Given the description of an element on the screen output the (x, y) to click on. 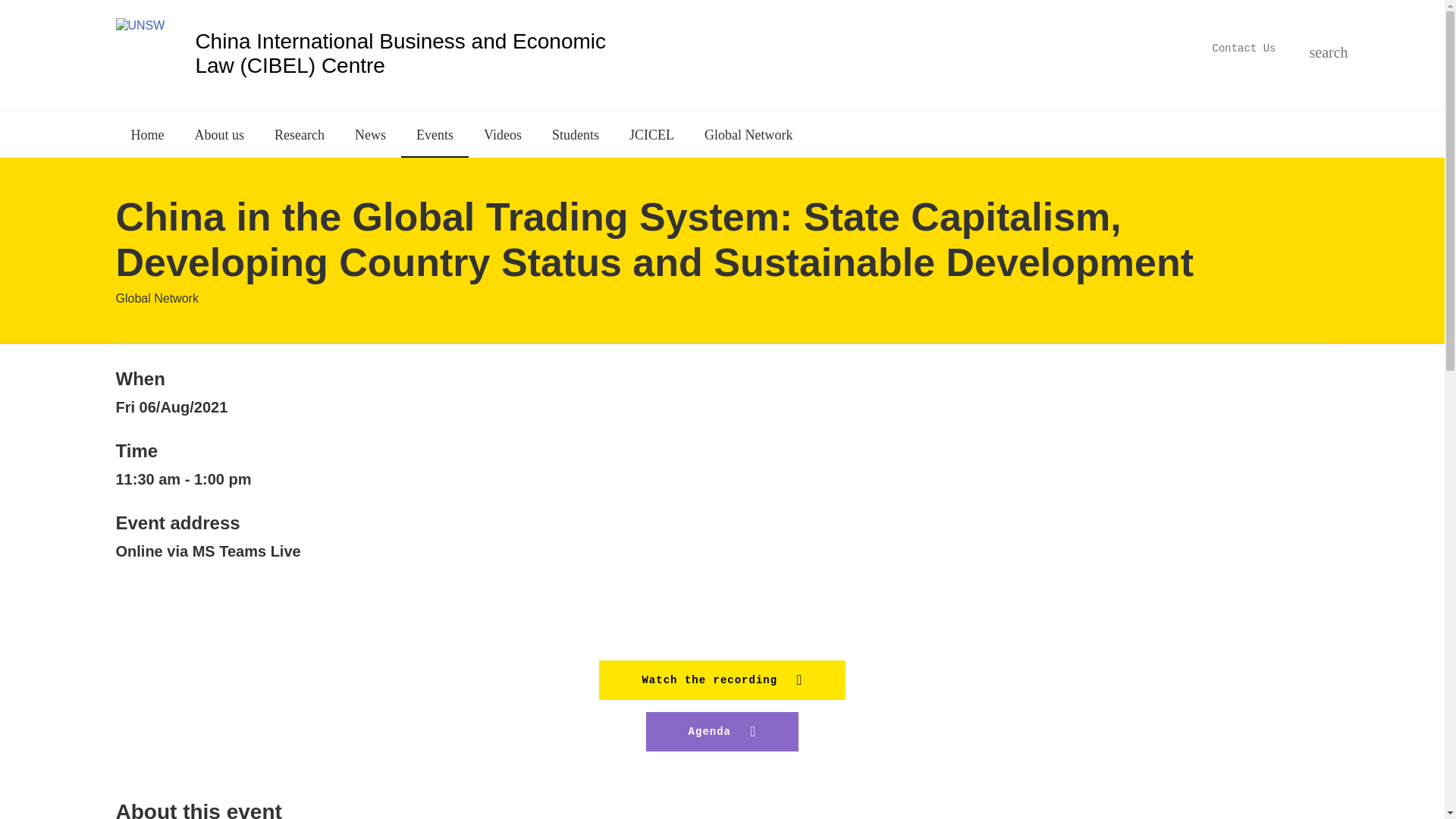
Students (575, 134)
Skip (655, 52)
Videos (502, 134)
Contact Us (1243, 48)
Agenda  (722, 731)
About us (219, 134)
Home (147, 134)
Research (299, 134)
Home (413, 52)
search (1315, 49)
